Given the description of an element on the screen output the (x, y) to click on. 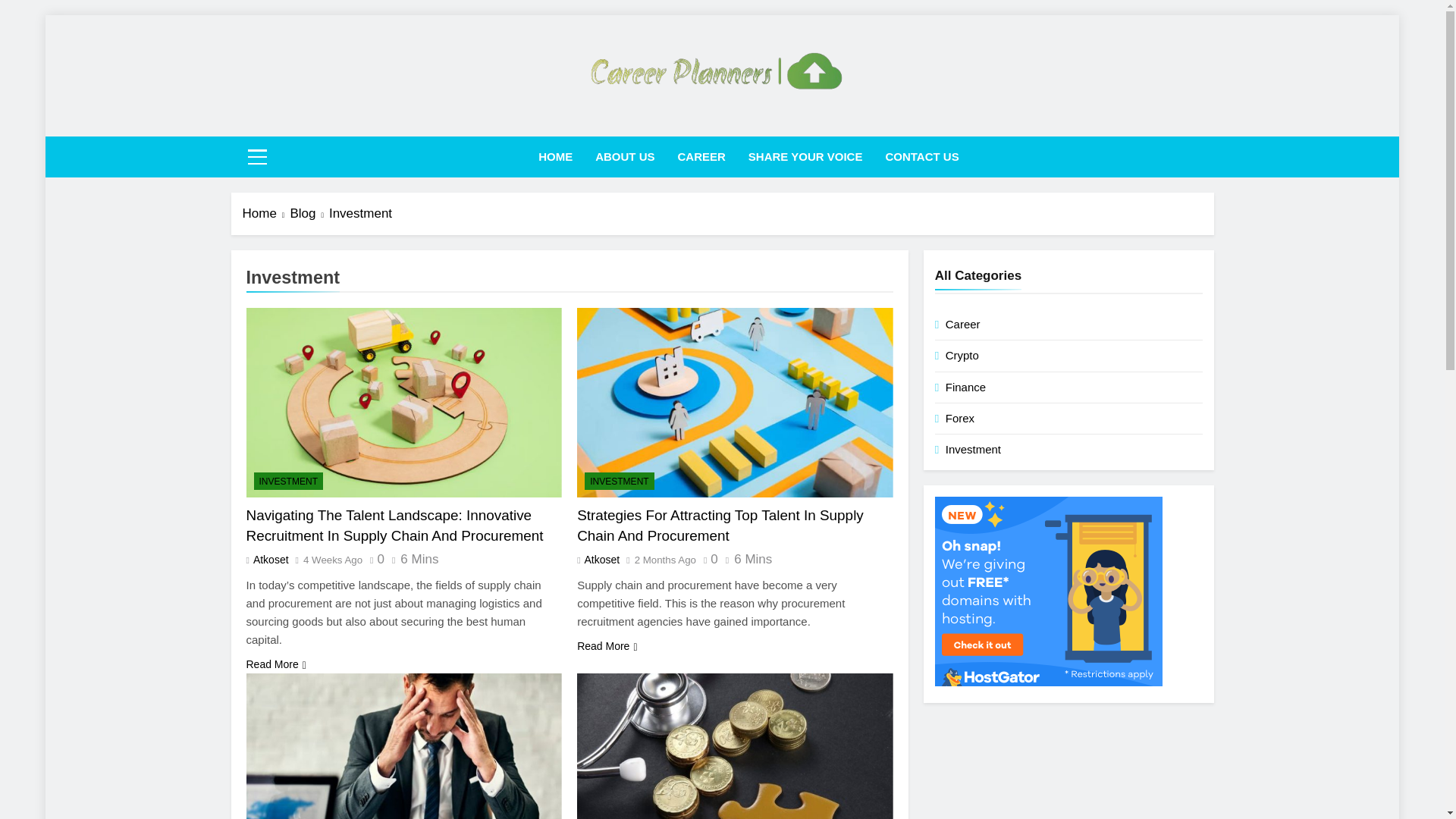
Blog (309, 213)
CONTACT US (921, 156)
Career Planners (612, 122)
ABOUT US (624, 156)
HOME (555, 156)
0 (706, 558)
Common Mistakes New Investors Make and How to Avoid Them (404, 746)
0 (373, 558)
CAREER (700, 156)
Read More (606, 646)
INVESTMENT (619, 480)
Read More (275, 664)
